Given the description of an element on the screen output the (x, y) to click on. 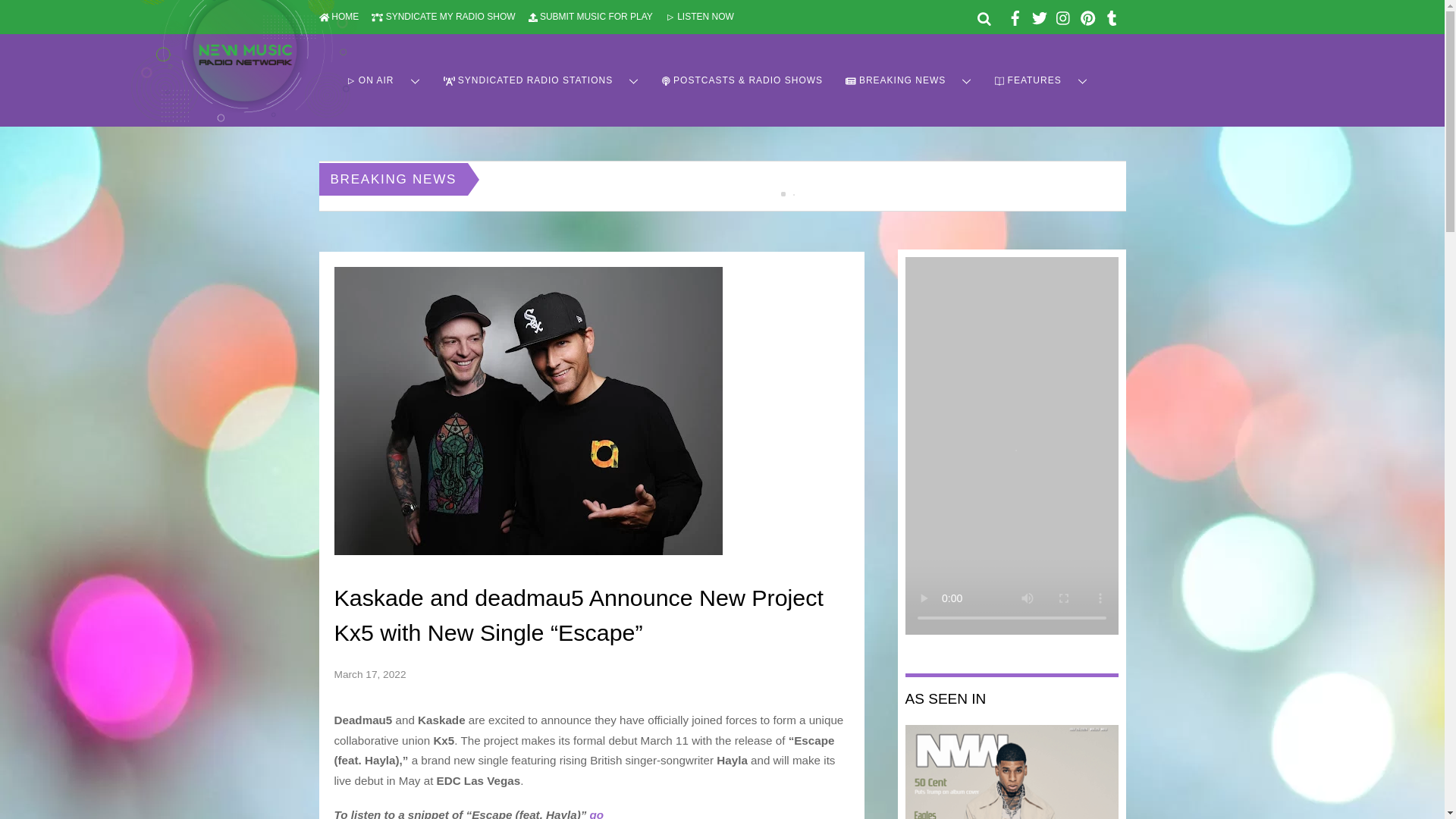
new-music-radio-network-logo (242, 61)
SYNDICATE MY RADIO SHOW (443, 16)
SUBMIT MUSIC FOR PLAY (590, 16)
kx5.jpeg (527, 410)
LISTEN NOW (699, 16)
New Music Radio Network (242, 114)
FEATURES (1041, 80)
HOME (338, 16)
ON AIR (383, 80)
SYNDICATED RADIO STATIONS (541, 80)
BREAKING NEWS (909, 80)
